Given the description of an element on the screen output the (x, y) to click on. 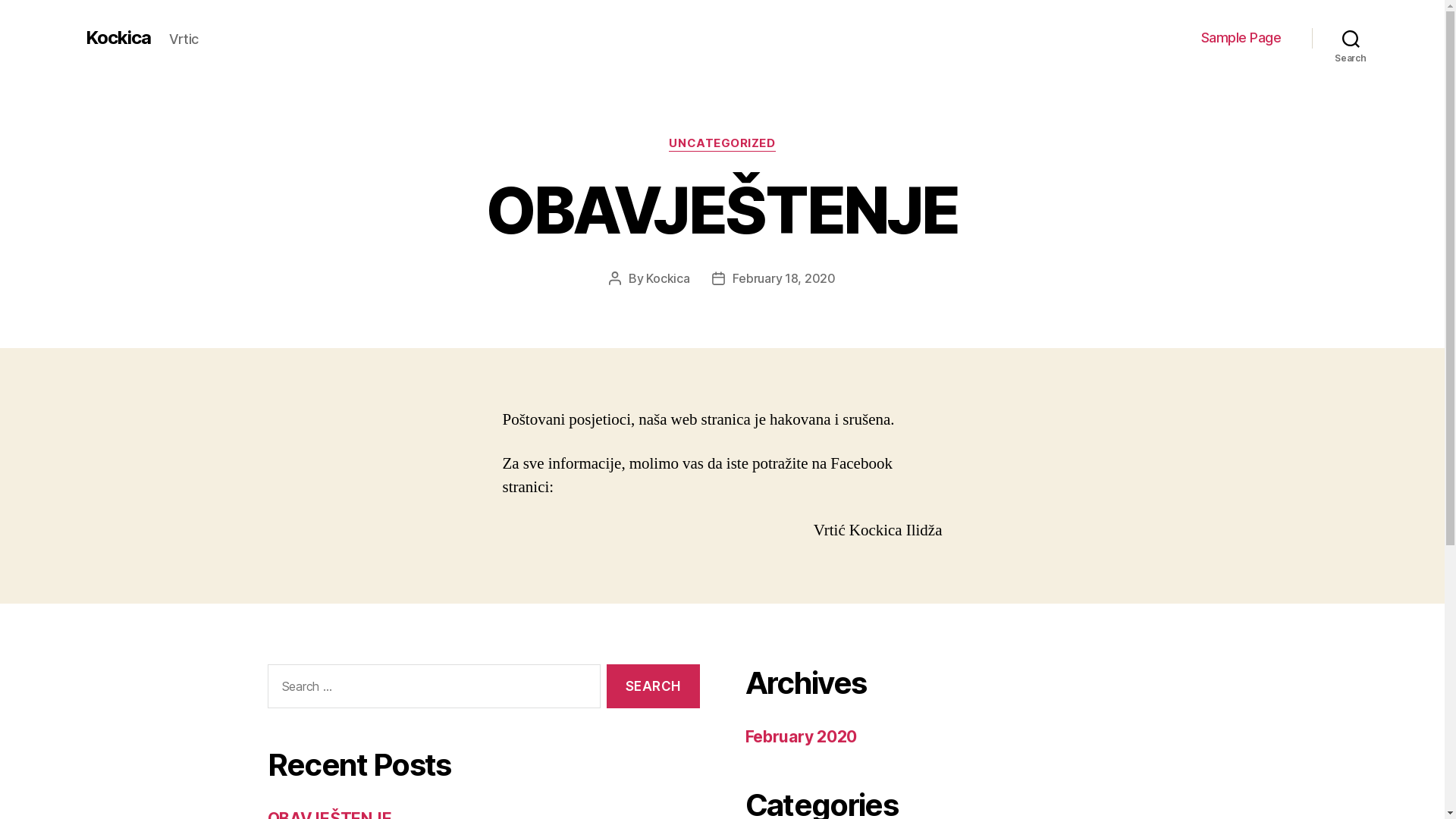
Search Element type: text (1350, 37)
Sample Page Element type: text (1241, 37)
Search Element type: text (652, 686)
February 18, 2020 Element type: text (783, 277)
February 2020 Element type: text (800, 736)
Kockica Element type: text (117, 37)
Kockica Element type: text (667, 277)
UNCATEGORIZED Element type: text (721, 143)
